Given the description of an element on the screen output the (x, y) to click on. 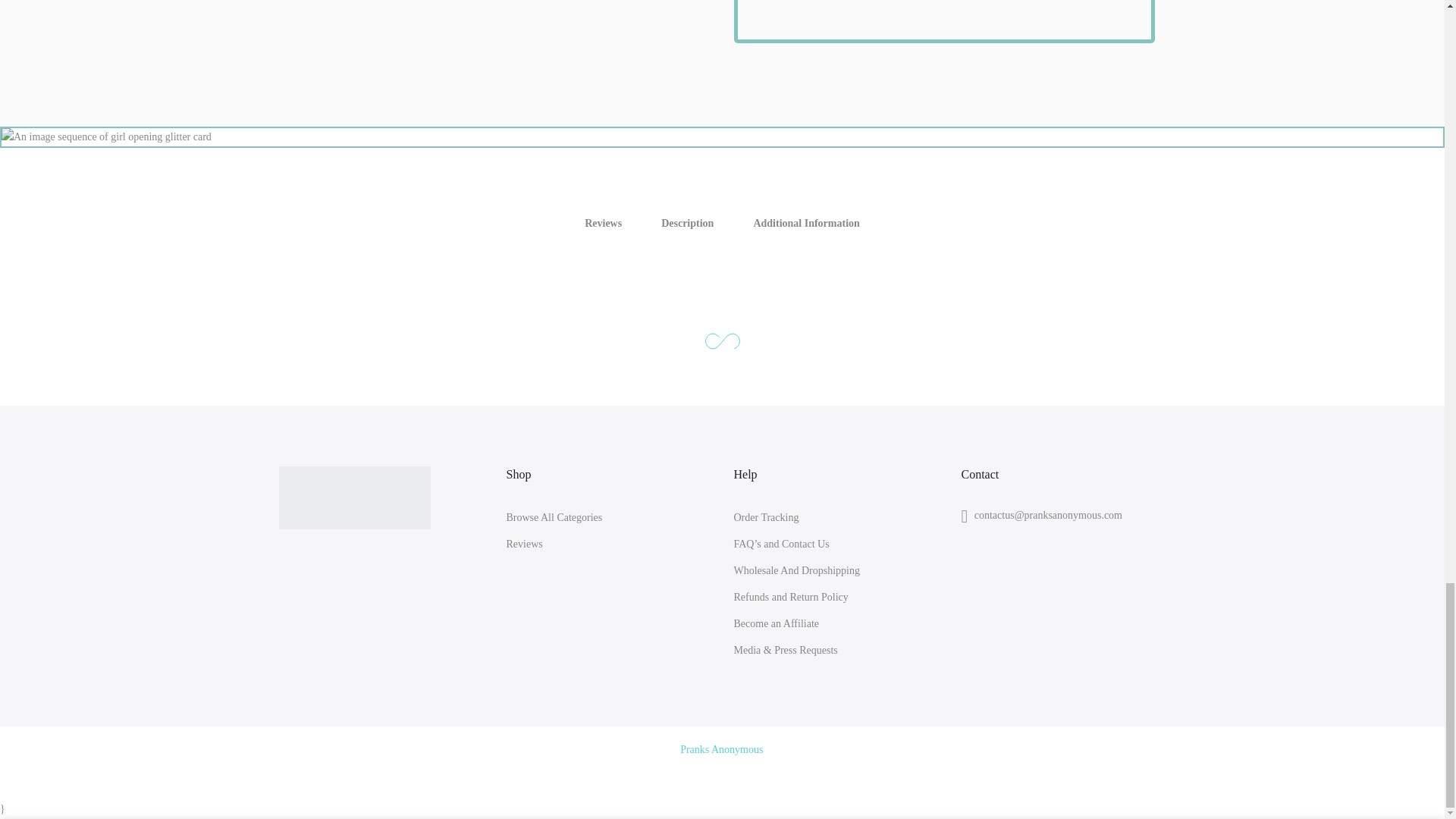
Browse All Categories (554, 517)
Refunds and Return Policy (790, 596)
Reviews (603, 223)
Order Tracking (766, 517)
Wholesale And Dropshipping (796, 570)
Girl opening spring loaded glitter bomb (943, 21)
Description (687, 223)
Reviews (524, 543)
Additional Information (806, 223)
